Given the description of an element on the screen output the (x, y) to click on. 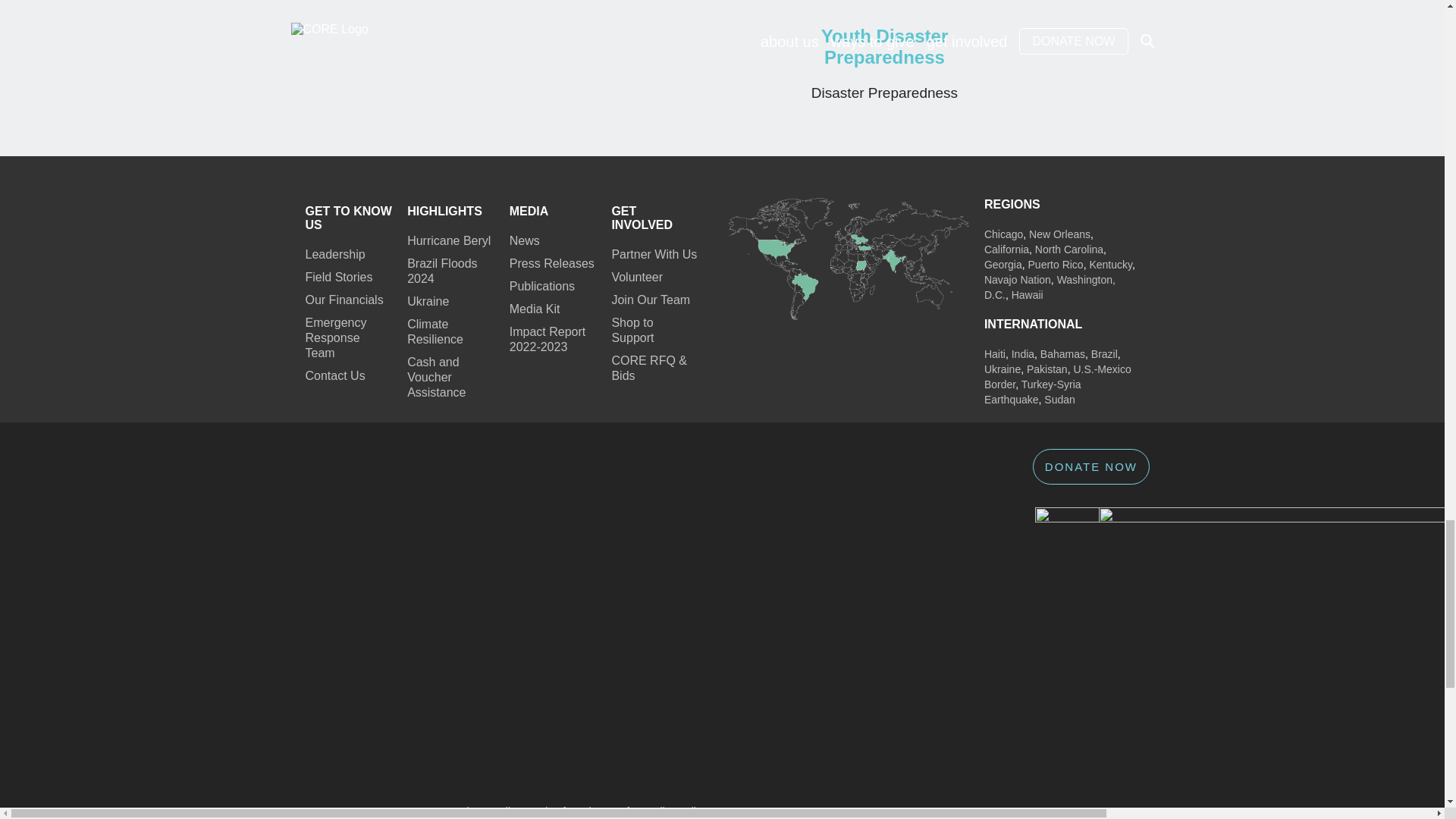
Publications (552, 286)
Climate Resilience (451, 331)
Brazil Floods 2024 (451, 271)
Cash and Voucher Assistance (451, 377)
Media Kit (552, 309)
Ukraine (451, 301)
Contact Us (347, 376)
News (552, 240)
Leadership (347, 254)
Impact Report 2022-2023 (552, 339)
